Given the description of an element on the screen output the (x, y) to click on. 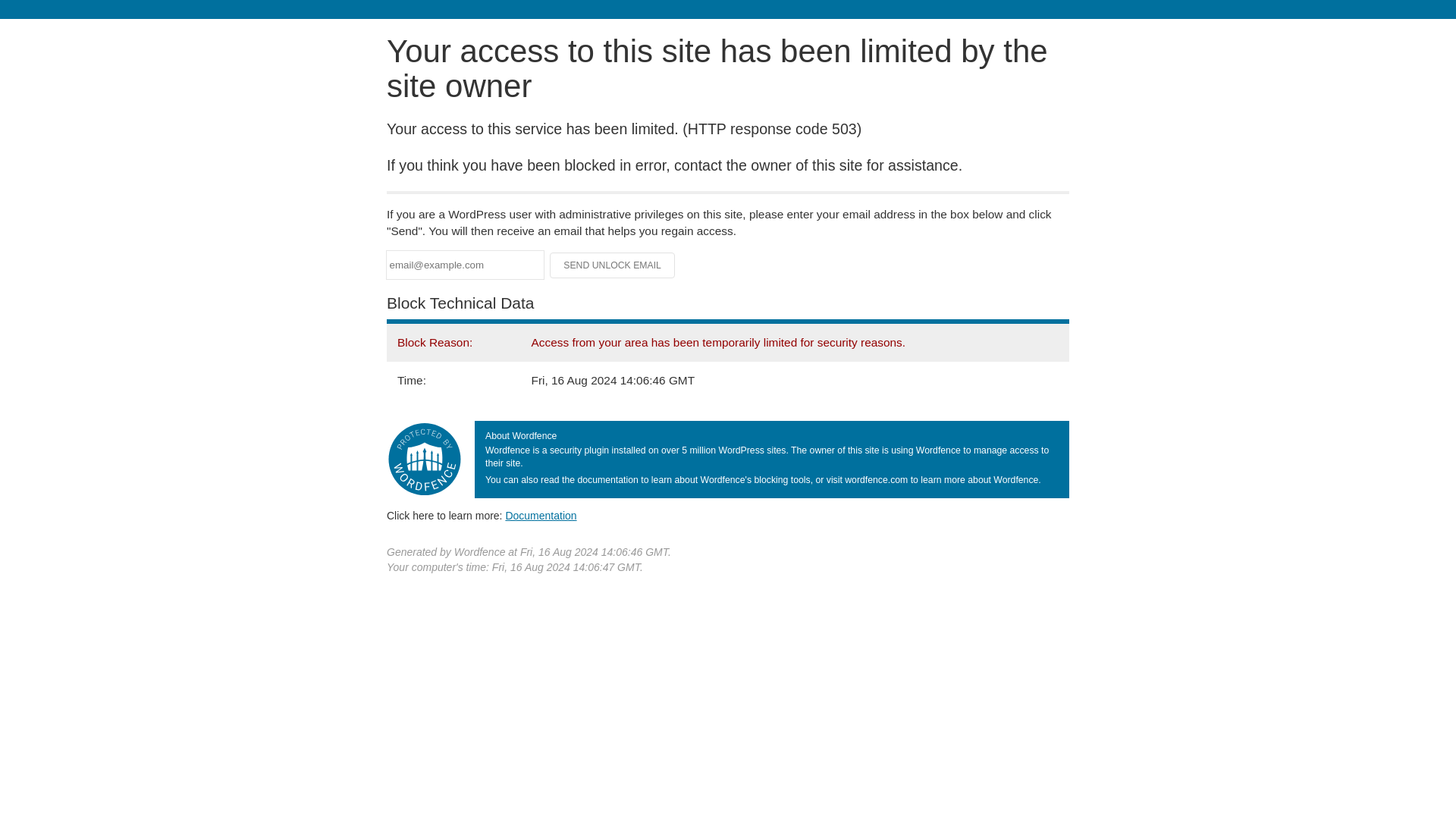
Documentation (540, 515)
Send Unlock Email (612, 265)
Send Unlock Email (612, 265)
